Given the description of an element on the screen output the (x, y) to click on. 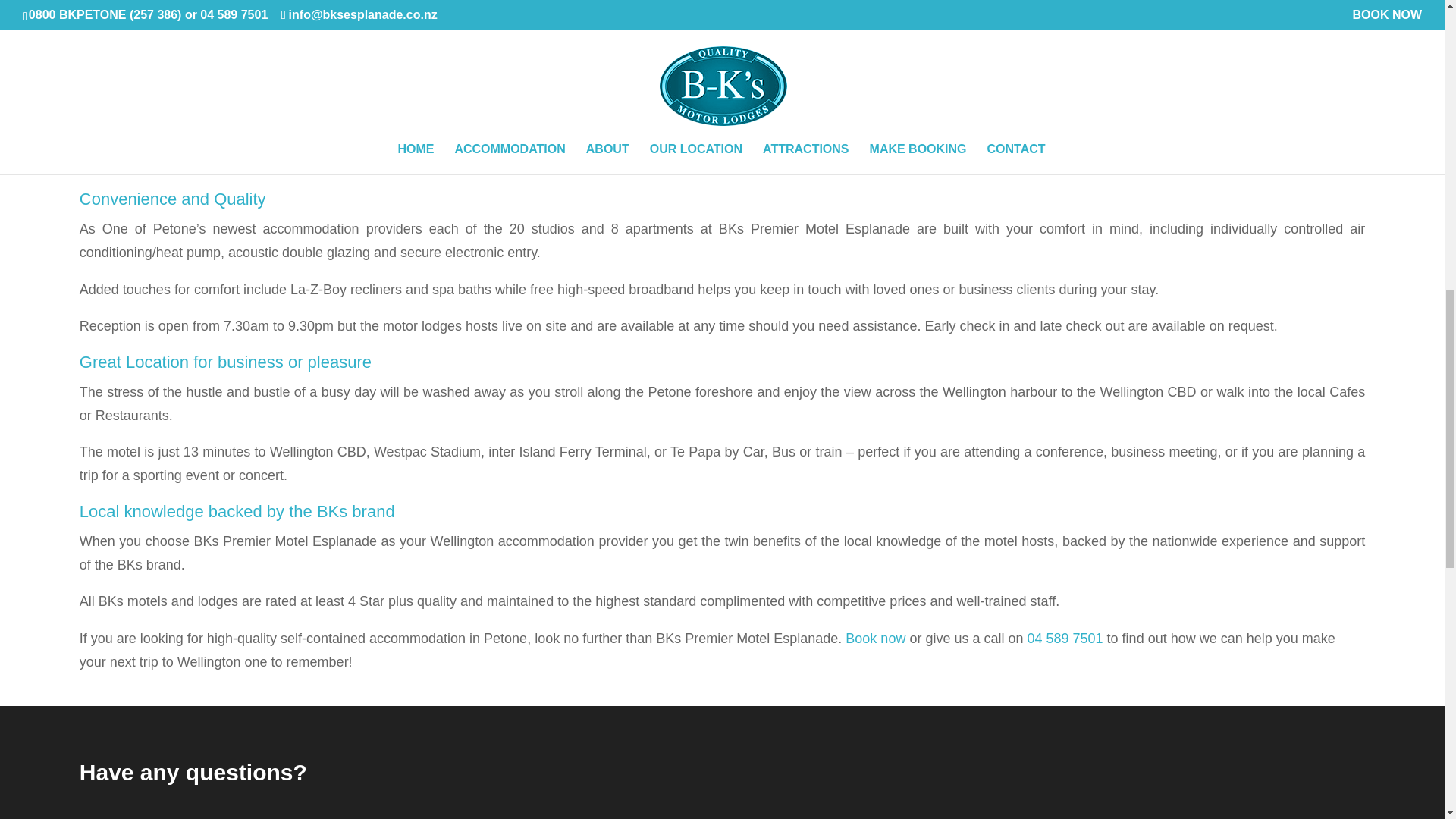
04 589 7501 (1064, 638)
Book now (875, 638)
